Given the description of an element on the screen output the (x, y) to click on. 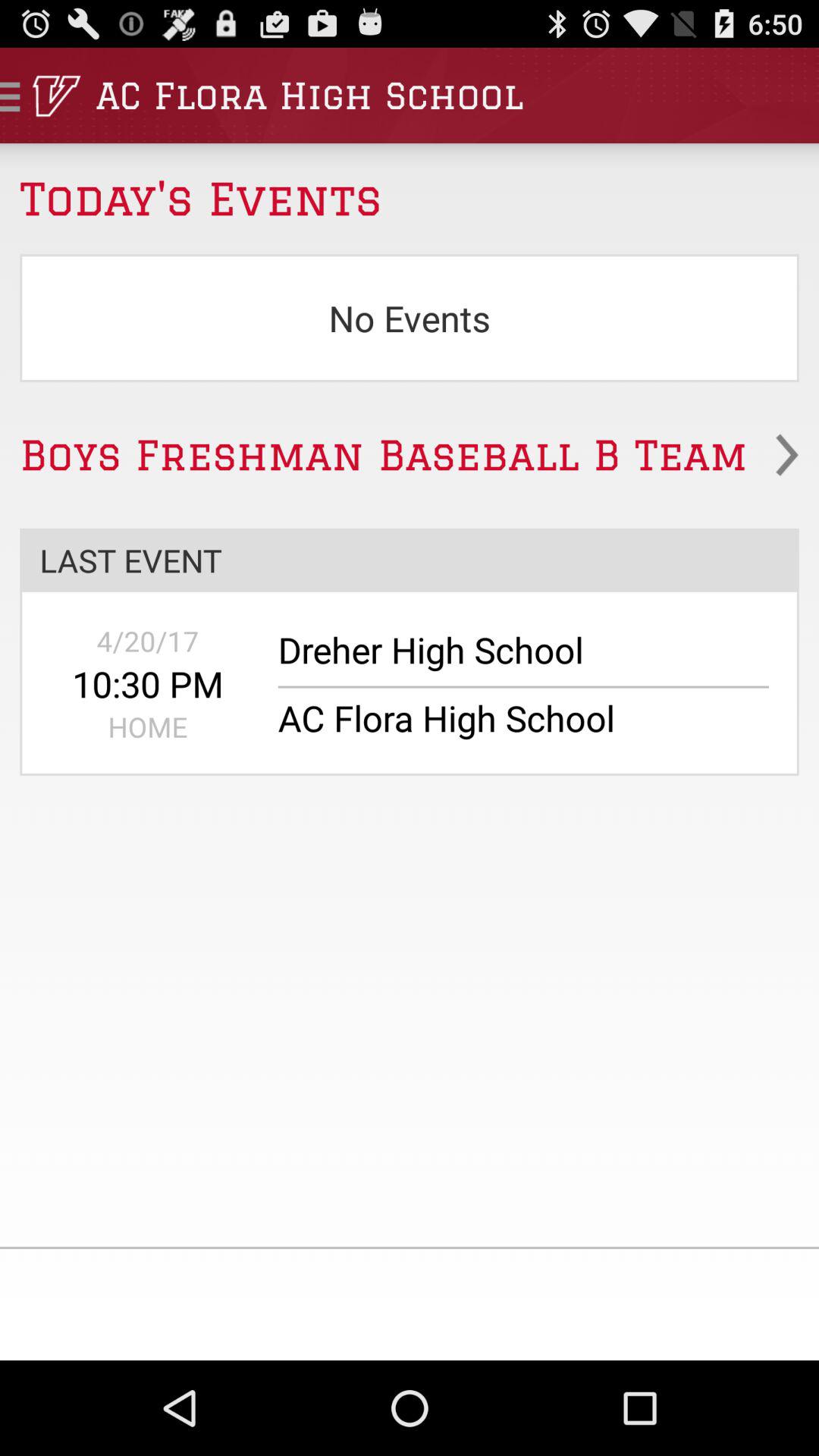
jump until the 4/20/17 app (147, 640)
